Given the description of an element on the screen output the (x, y) to click on. 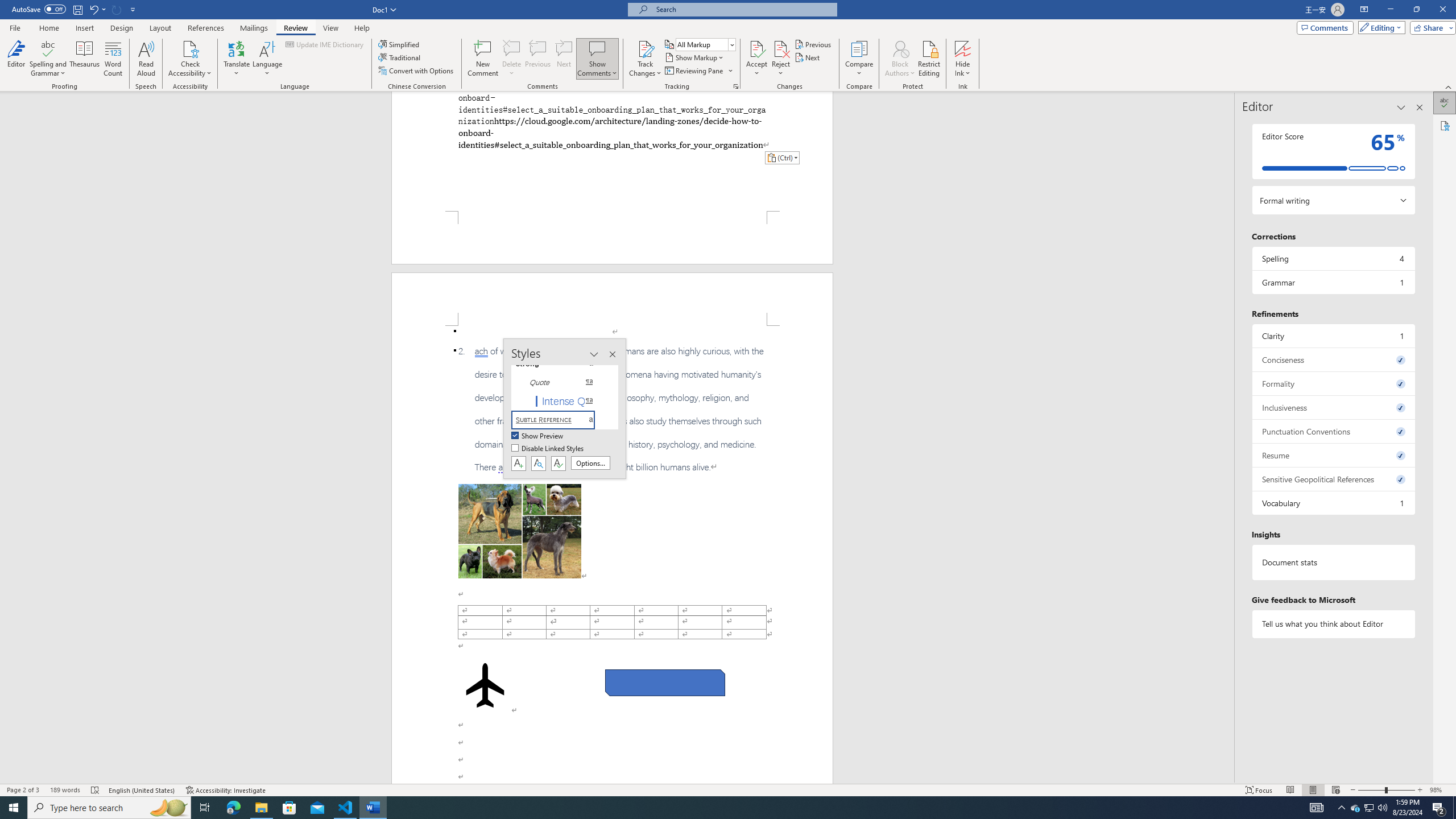
Editor Score 65% (1333, 151)
